Given the description of an element on the screen output the (x, y) to click on. 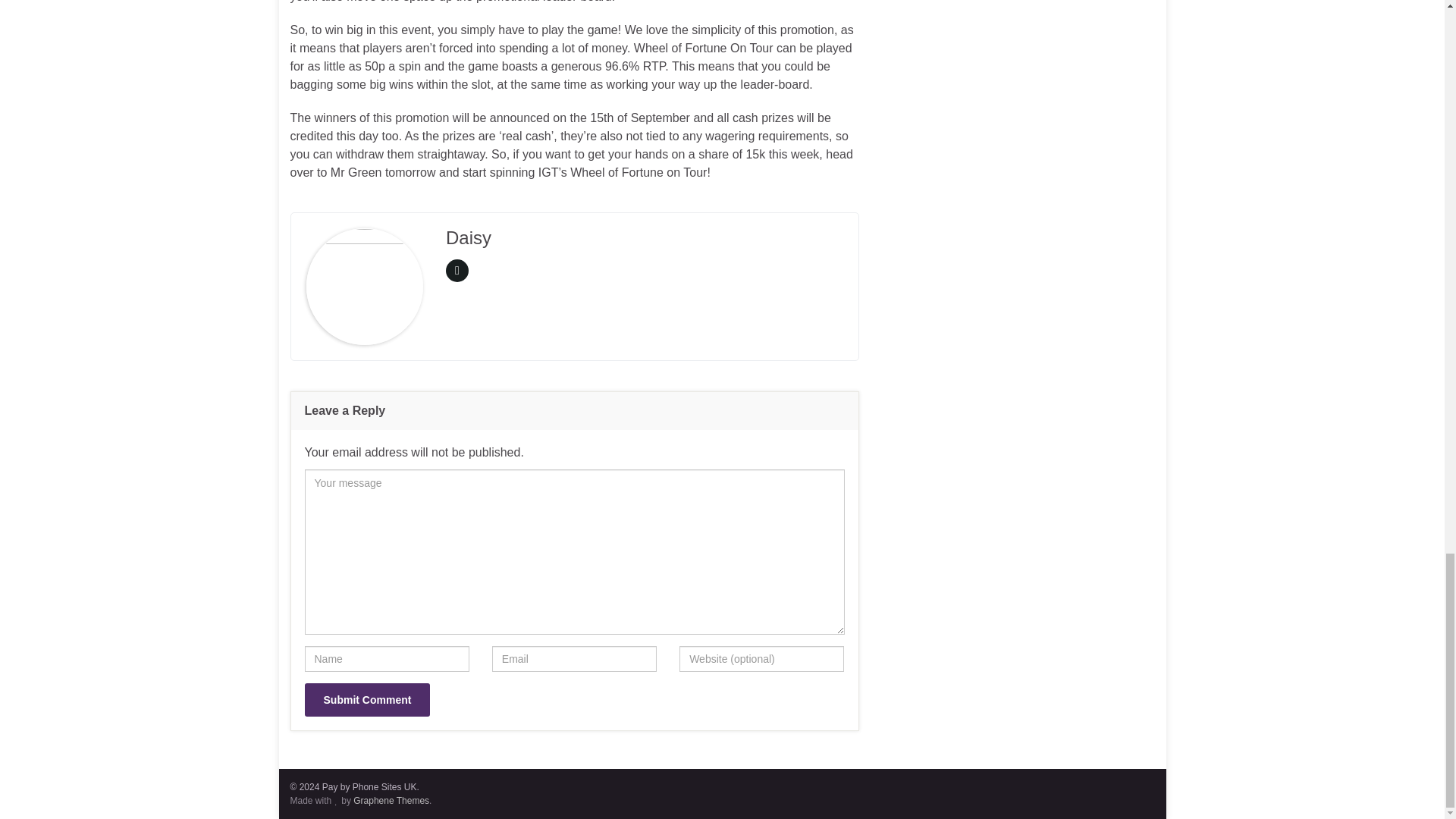
Submit Comment (367, 699)
Graphene Themes (391, 800)
Submit Comment (367, 699)
